Given the description of an element on the screen output the (x, y) to click on. 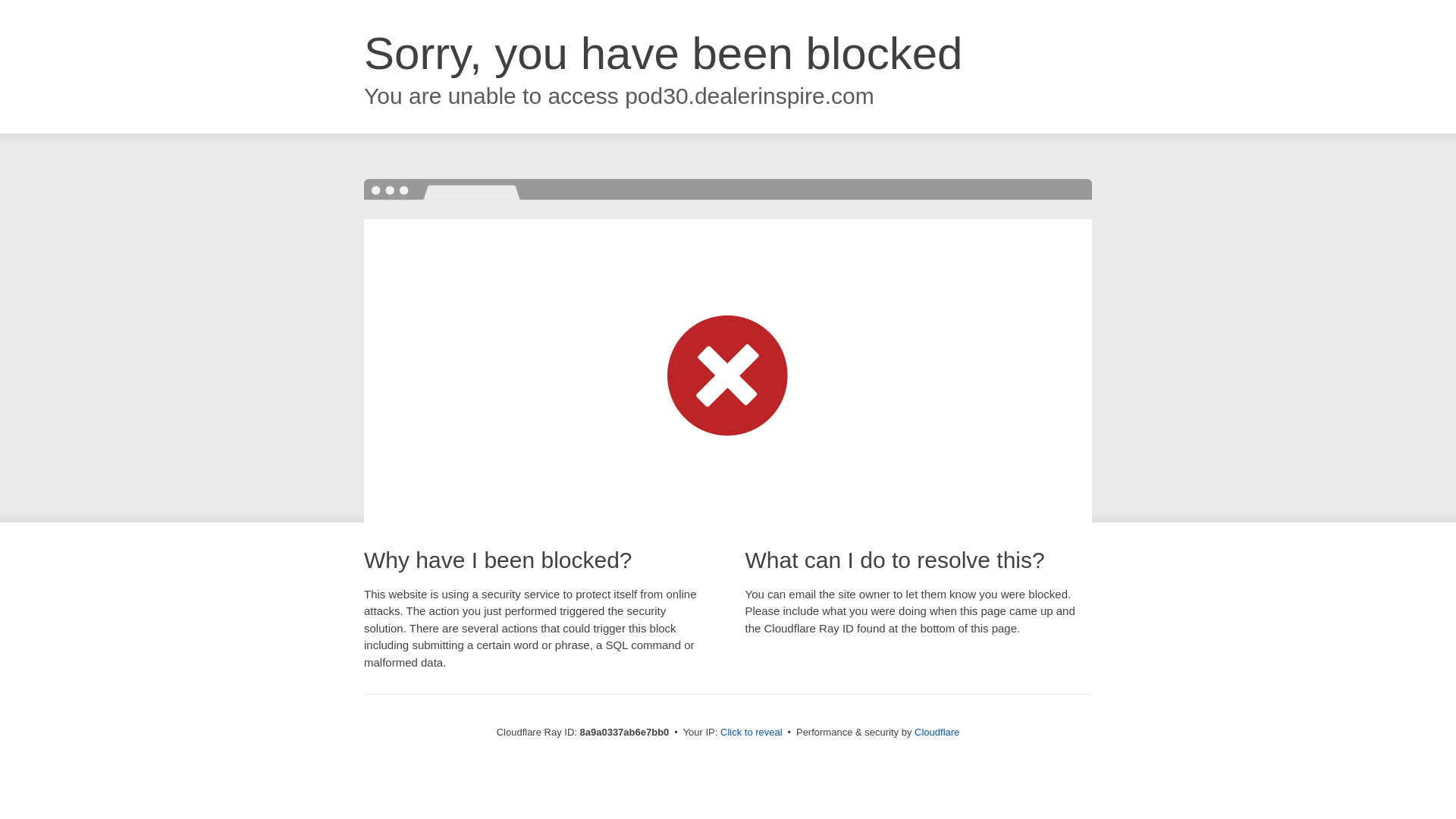
Cloudflare (936, 731)
Click to reveal (751, 732)
